Given the description of an element on the screen output the (x, y) to click on. 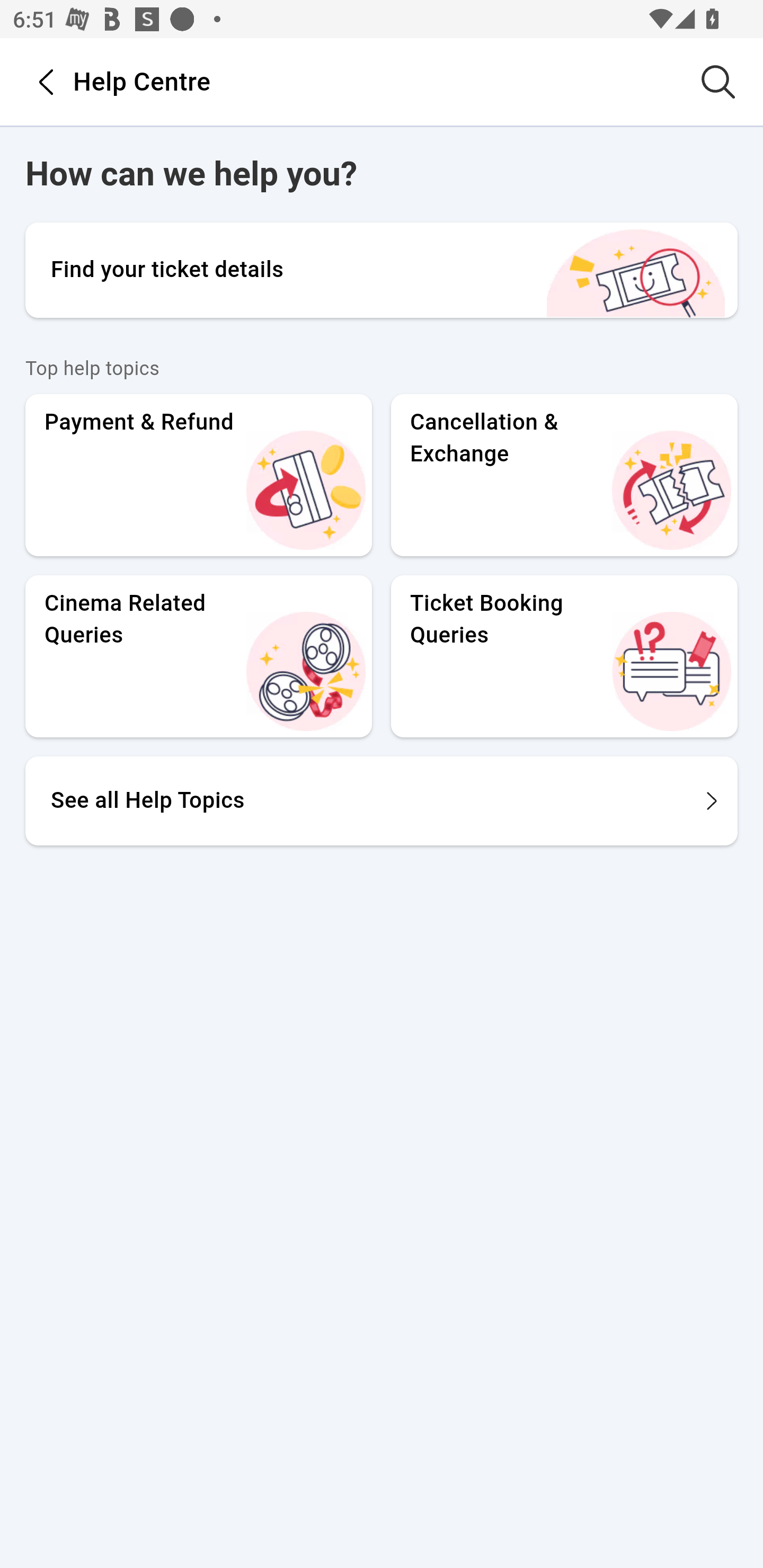
Find your ticket details card (381, 269)
card (635, 272)
Payment & Refund card (198, 474)
Cancellation & Exchange card (563, 474)
card (305, 489)
card (670, 489)
Cinema Related Queries card (198, 654)
Ticket Booking Queries card (563, 654)
card (305, 669)
card (670, 669)
See all Help Topics (381, 799)
